Given the description of an element on the screen output the (x, y) to click on. 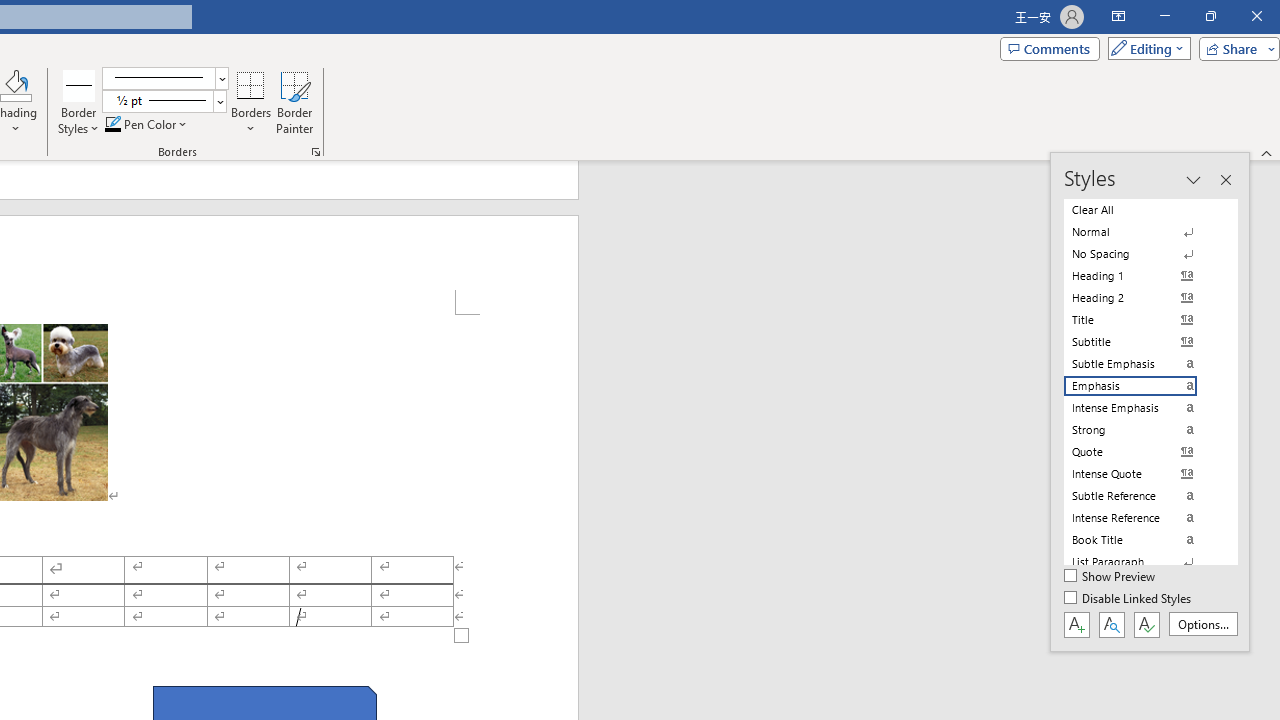
Heading 2 (1142, 297)
Class: NetUIButton (1146, 624)
No Spacing (1142, 253)
Disable Linked Styles (1129, 599)
Subtle Emphasis (1142, 363)
Border Painter (294, 102)
Intense Reference (1142, 517)
Pen Color RGB(0, 0, 0) (113, 124)
Border Styles (79, 84)
